Given the description of an element on the screen output the (x, y) to click on. 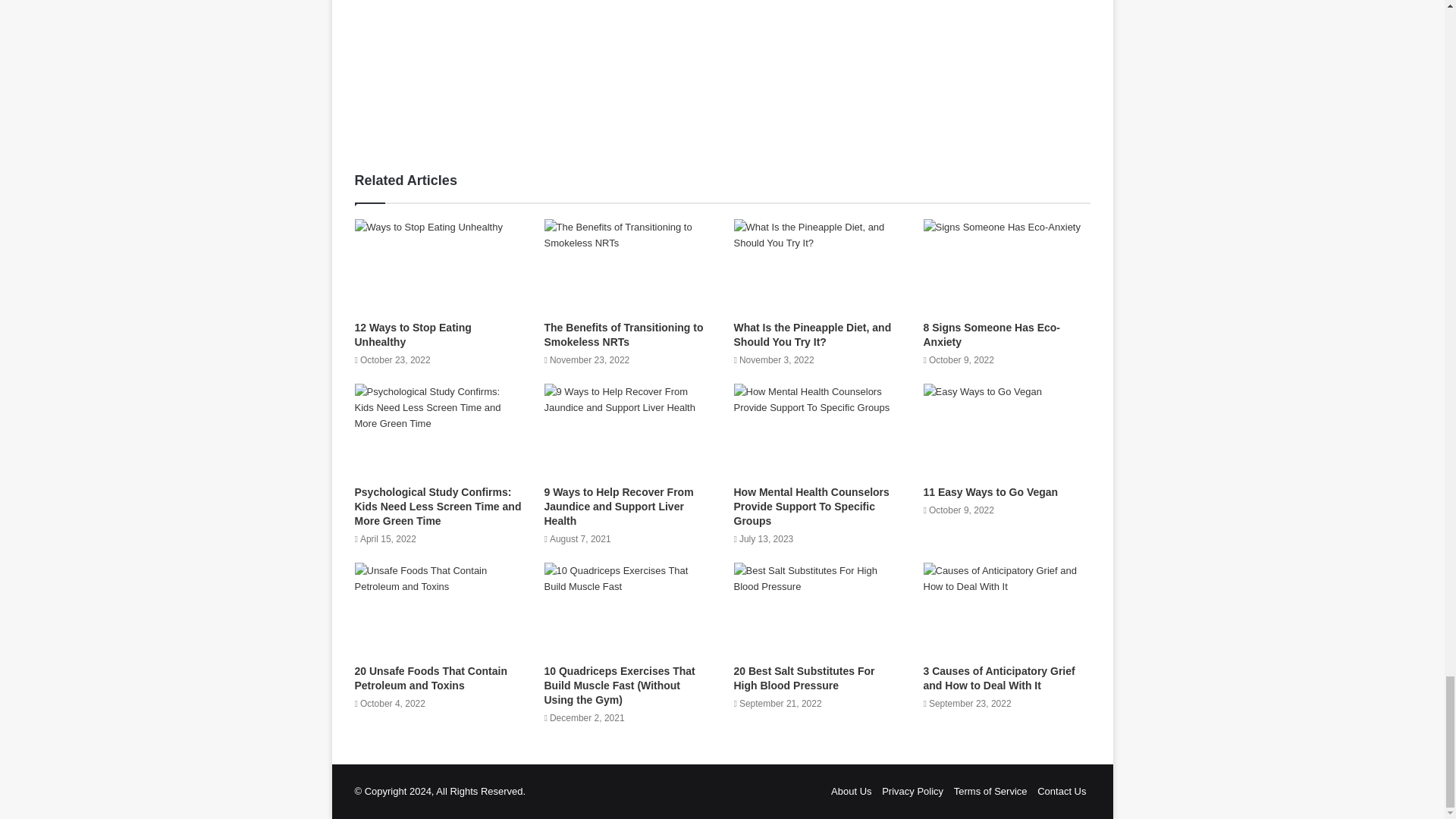
11 Easy Ways to Go Vegan (990, 491)
The Benefits of Transitioning to Smokeless NRTs (623, 334)
What Is the Pineapple Diet, and Should You Try It? (812, 334)
20 Best Salt Substitutes For High Blood Pressure (804, 678)
8 Signs Someone Has Eco-Anxiety (992, 334)
20 Unsafe Foods That Contain Petroleum and Toxins (430, 678)
12 Ways to Stop Eating Unhealthy (413, 334)
